Given the description of an element on the screen output the (x, y) to click on. 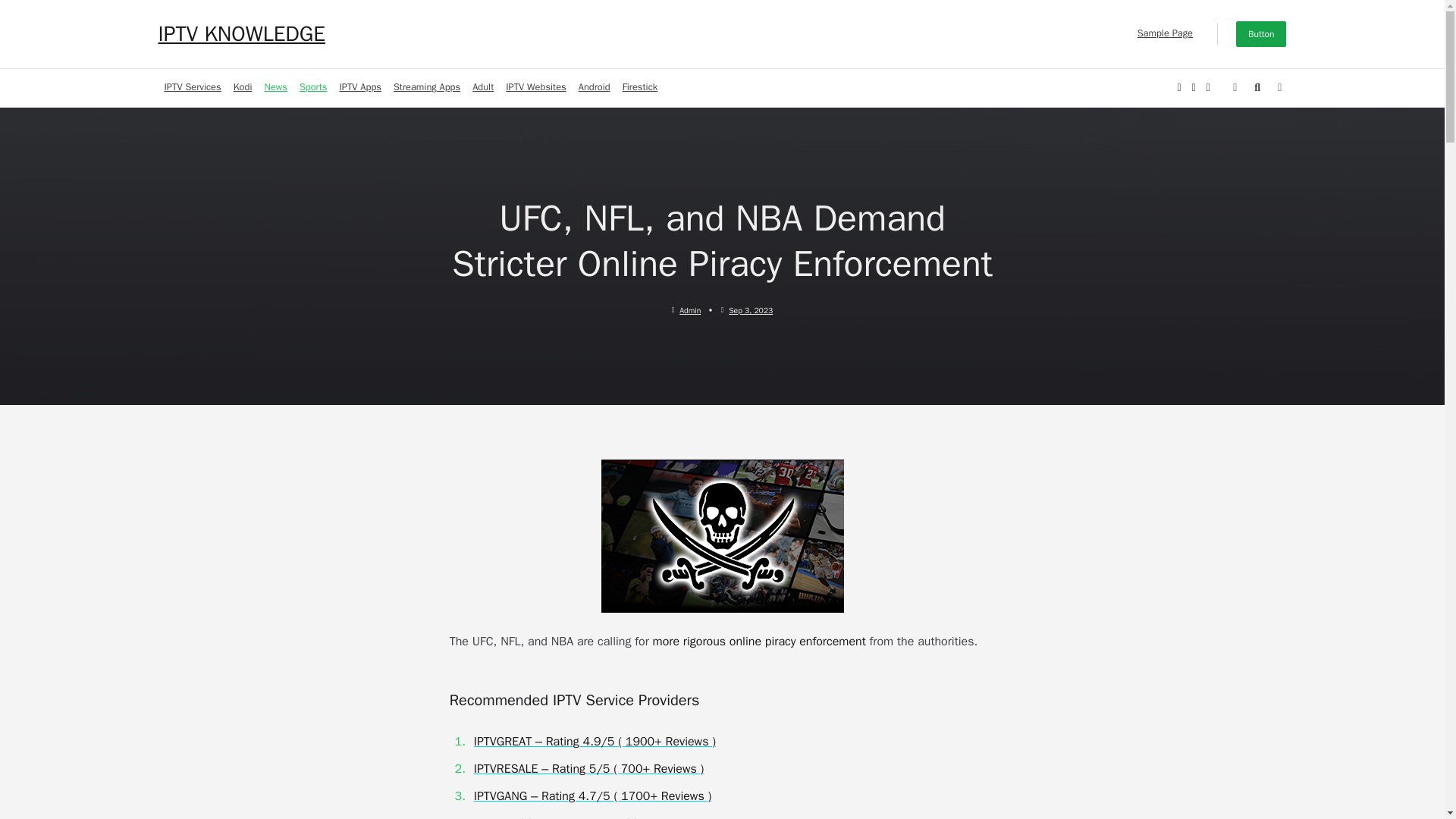
IPTV Websites (535, 87)
Firestick (639, 87)
Adult (482, 87)
IPTV KNOWLEDGE (240, 33)
IPTV Apps (360, 87)
Sample Page (1164, 33)
Sep 3, 2023 (751, 310)
Android (593, 87)
Button (1261, 33)
Kodi (243, 87)
News (274, 87)
Sports (313, 87)
Streaming Apps (426, 87)
Admin (689, 310)
IPTV Services (192, 87)
